Given the description of an element on the screen output the (x, y) to click on. 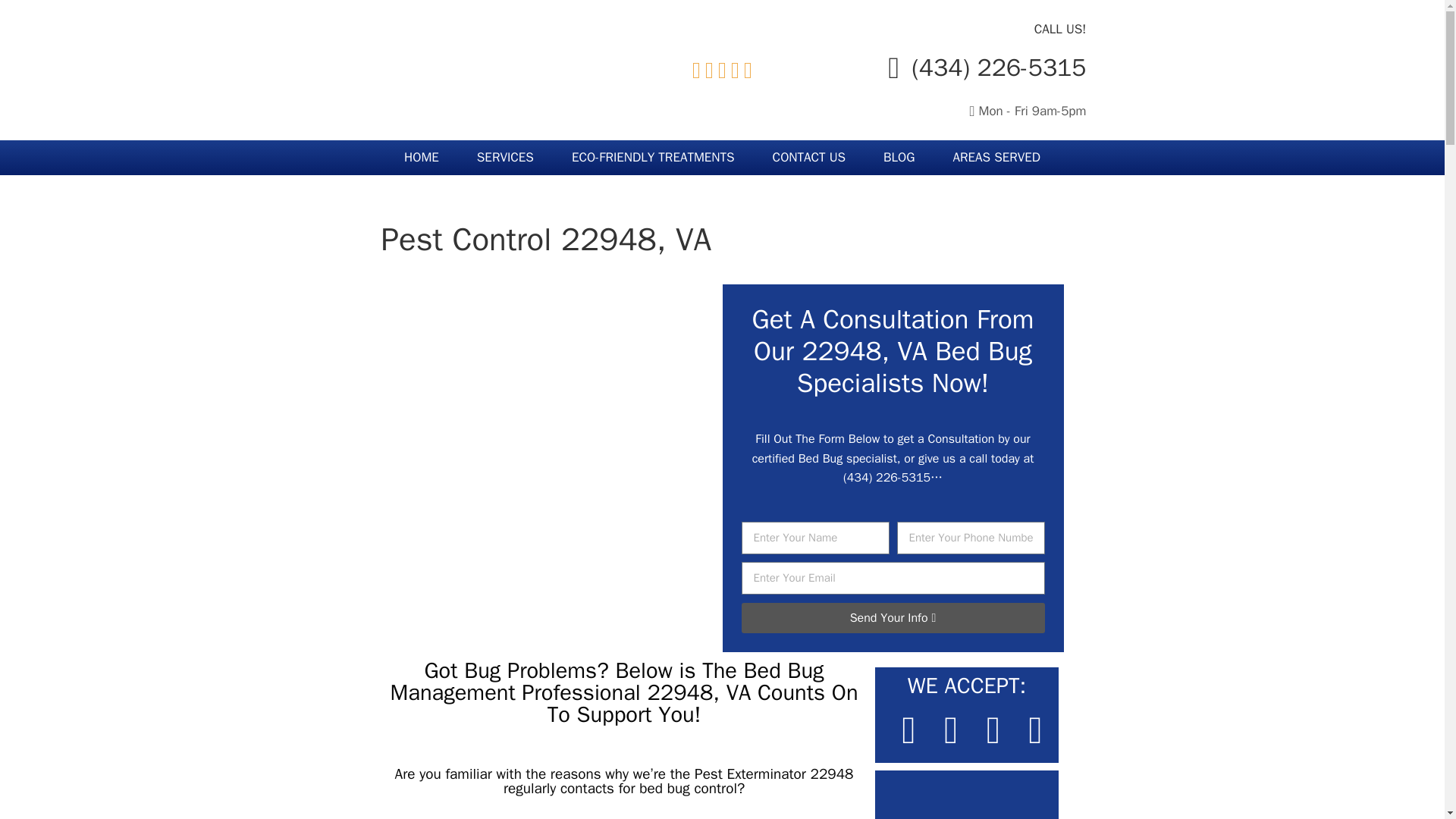
AREAS SERVED (996, 157)
BLOG (898, 157)
ECO-FRIENDLY TREATMENTS (653, 157)
HOME (421, 157)
CONTACT US (809, 157)
SERVICES (505, 157)
